Given the description of an element on the screen output the (x, y) to click on. 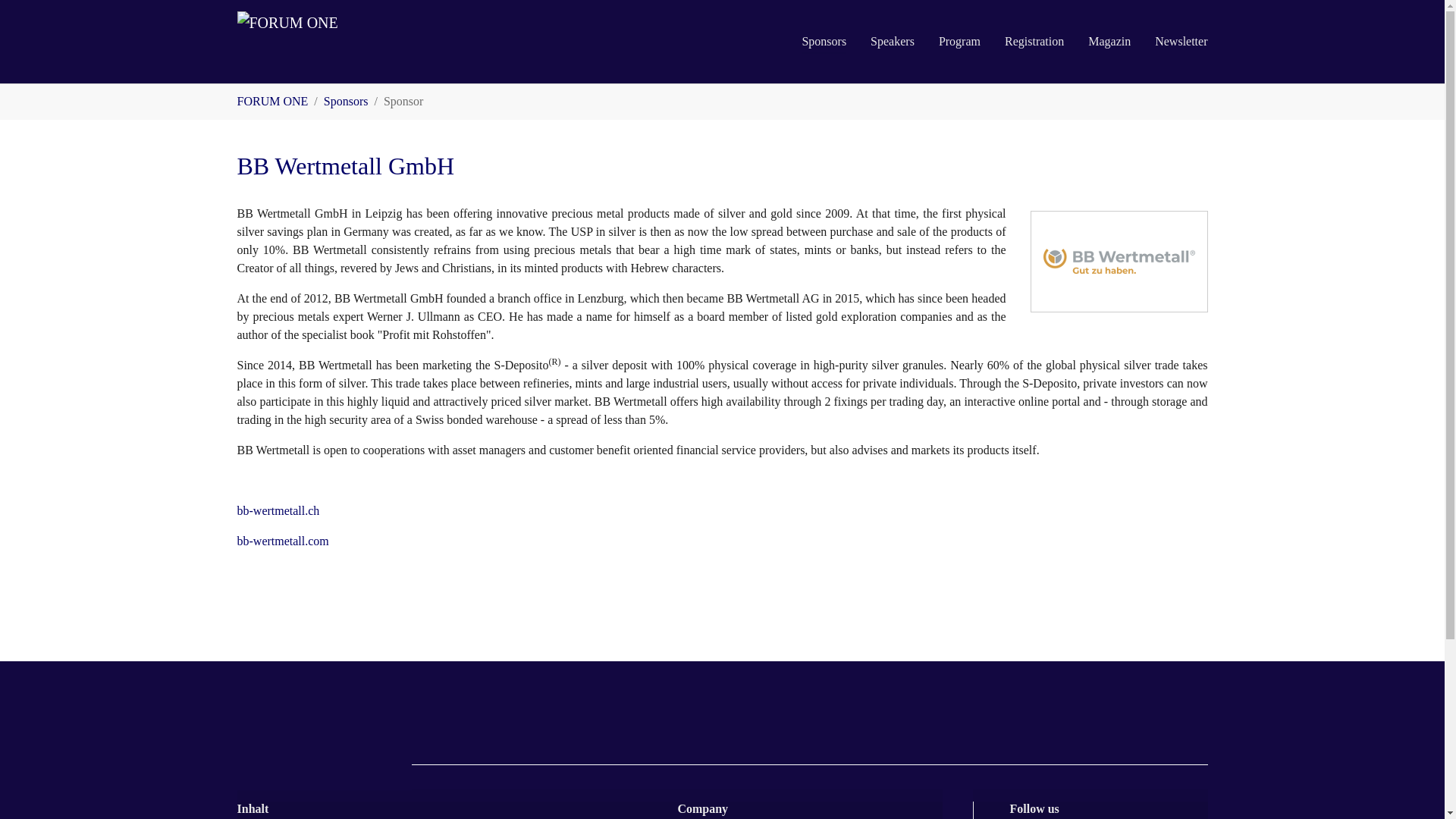
bb-wertmetall.com (282, 540)
Registration (1033, 41)
Sponsors (824, 41)
Program (959, 41)
FORUM ONE (347, 41)
Sponsors (824, 41)
Newsletter (1181, 41)
FORUM ONE (271, 101)
Speakers (892, 41)
Sponsors (345, 101)
